Given the description of an element on the screen output the (x, y) to click on. 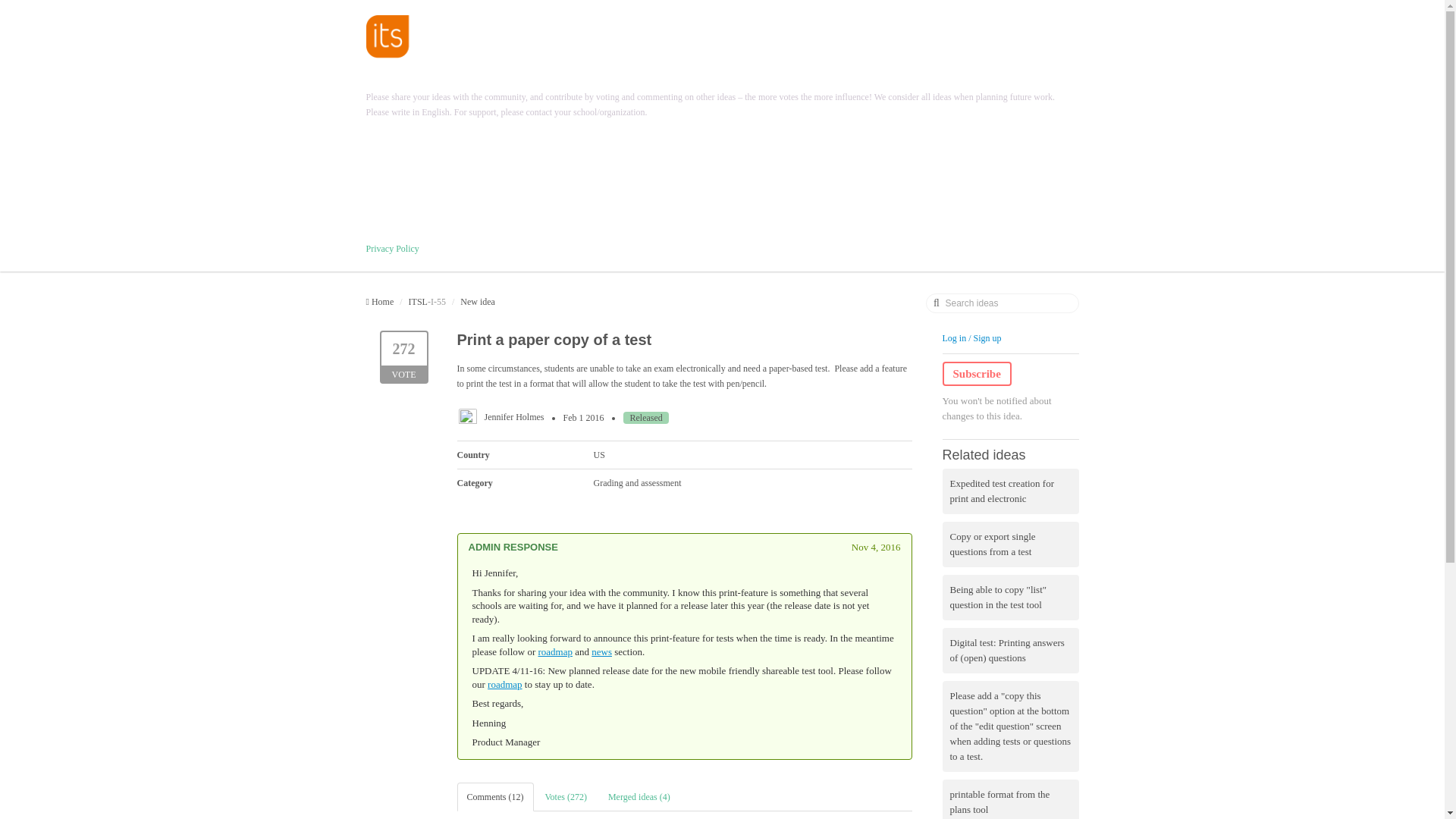
Released (645, 417)
Copy or export single questions from a test (1010, 544)
New idea (477, 301)
ITSL (418, 301)
roadmap (504, 684)
roadmap (555, 651)
Expedited test creation for print and electronic (1010, 491)
Privacy Policy (392, 248)
news (403, 357)
Subscribe (601, 651)
Home (976, 373)
